Given the description of an element on the screen output the (x, y) to click on. 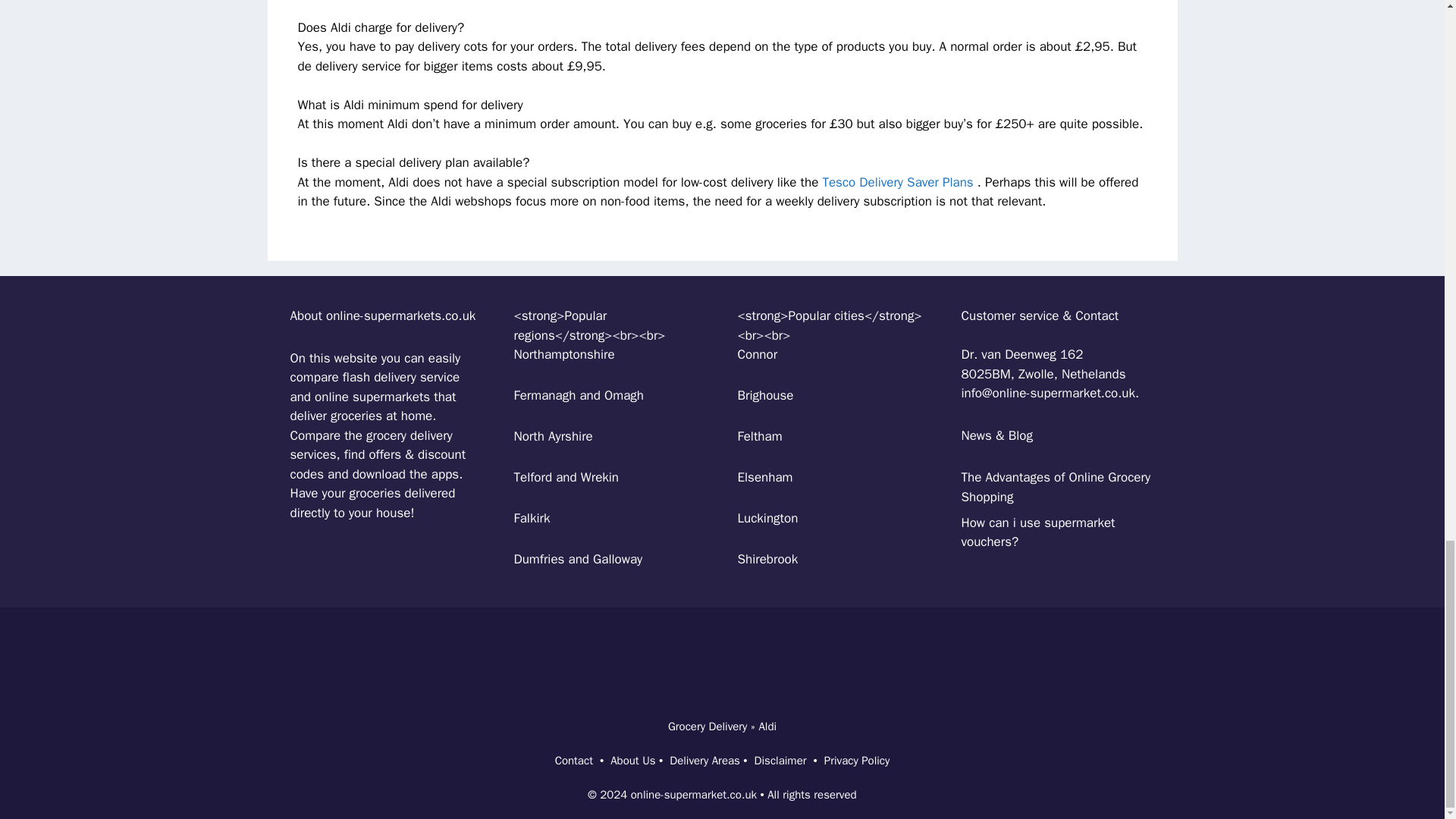
Tesco Delivery Saver Plans (897, 182)
Falkirk (531, 518)
Dumfries and Galloway (578, 559)
Luckington (766, 518)
Northamptonshire (563, 354)
Elsenham (764, 477)
North Ayrshire (552, 436)
The Advantages of Online Grocery Shopping (1055, 487)
Connor (756, 354)
Brighouse (764, 395)
Feltham (758, 436)
Fermanagh and Omagh (578, 395)
Shirebrook (766, 559)
Grocery Delivery (708, 726)
How can i use supermarket vouchers? (1037, 532)
